Given the description of an element on the screen output the (x, y) to click on. 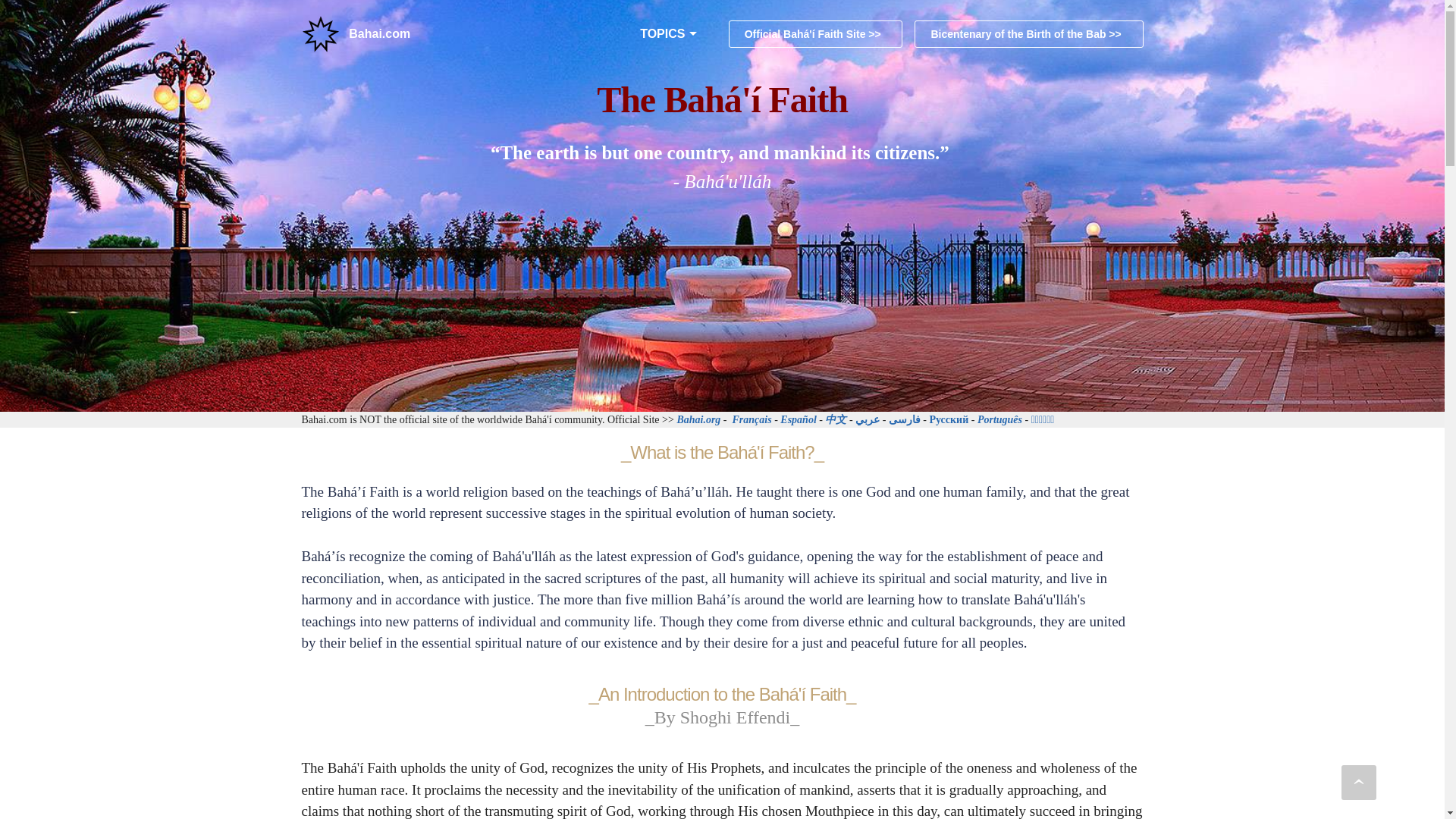
Bahai.com (379, 34)
Bahai.org (698, 419)
The Baha'i Faith (320, 34)
TOPICS (662, 34)
